Given the description of an element on the screen output the (x, y) to click on. 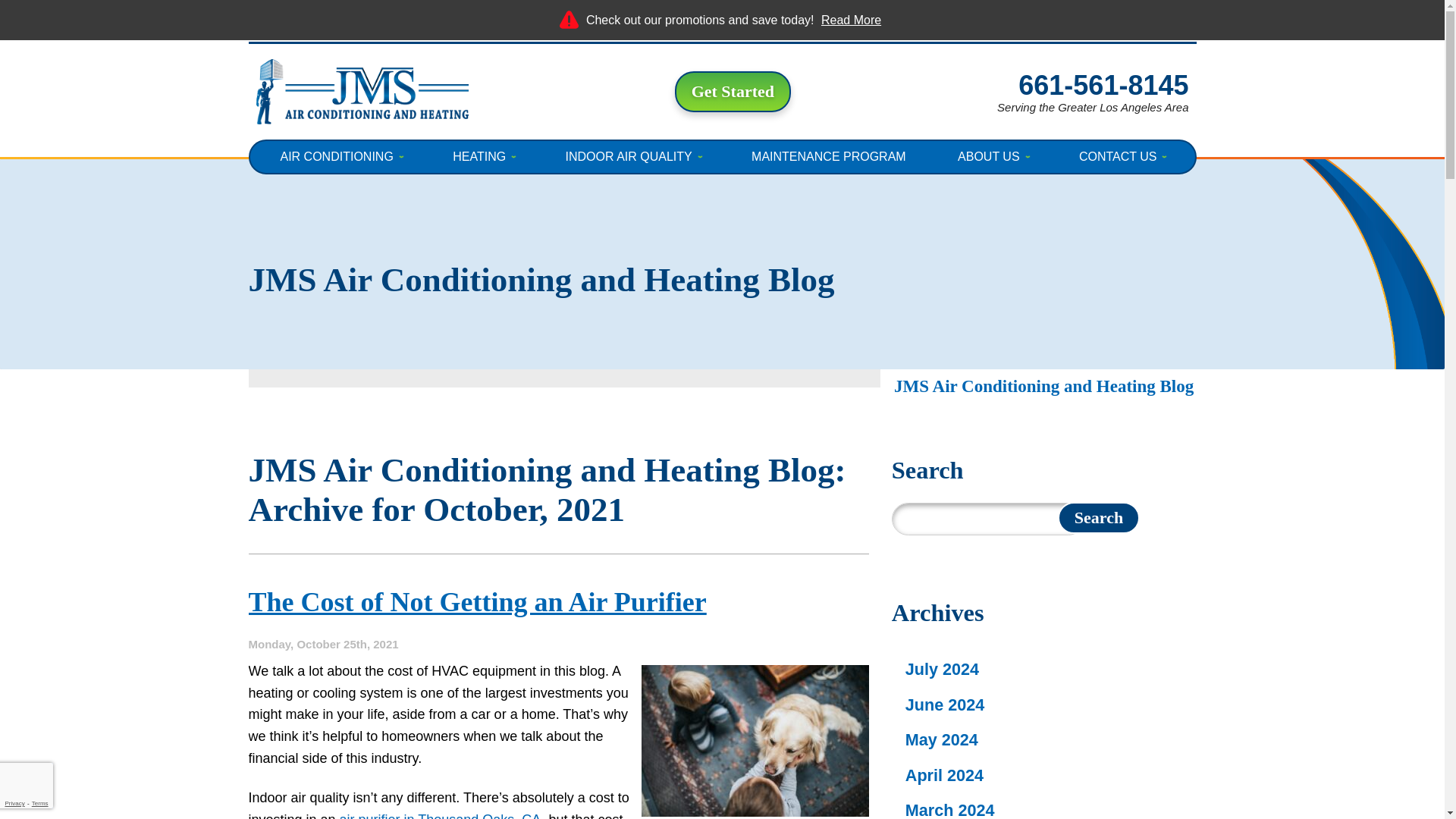
661-561-8145 (1102, 84)
Get Started (732, 91)
MAINTENANCE PROGRAM (828, 156)
AIR CONDITIONING (339, 156)
ABOUT US (992, 156)
Read More (850, 19)
INDOOR AIR QUALITY (632, 156)
HEATING (482, 156)
Permanent Link to The Cost of Not Getting an Air Purifier (477, 602)
